Given the description of an element on the screen output the (x, y) to click on. 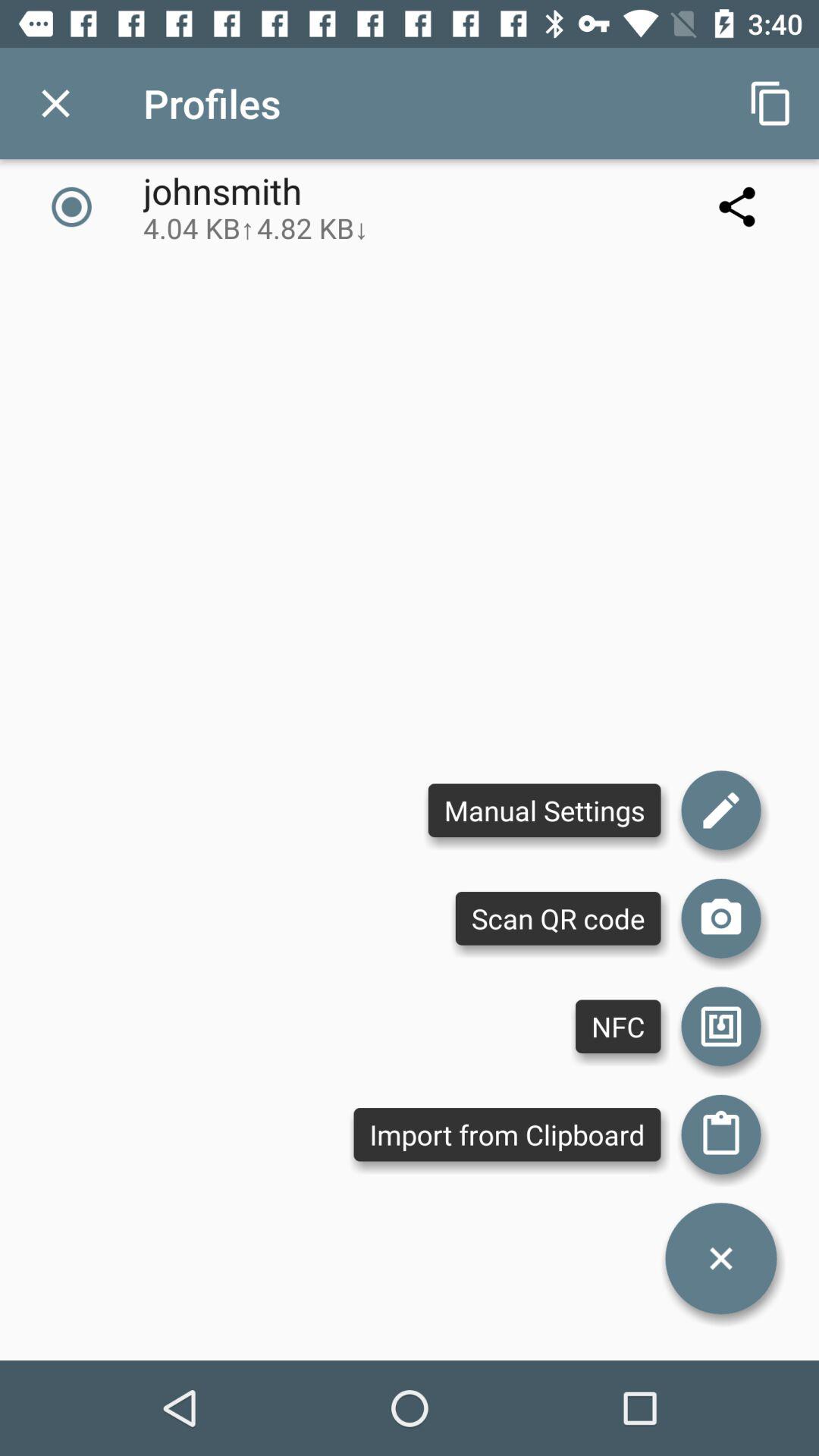
choose icon next to profiles icon (55, 103)
